Given the description of an element on the screen output the (x, y) to click on. 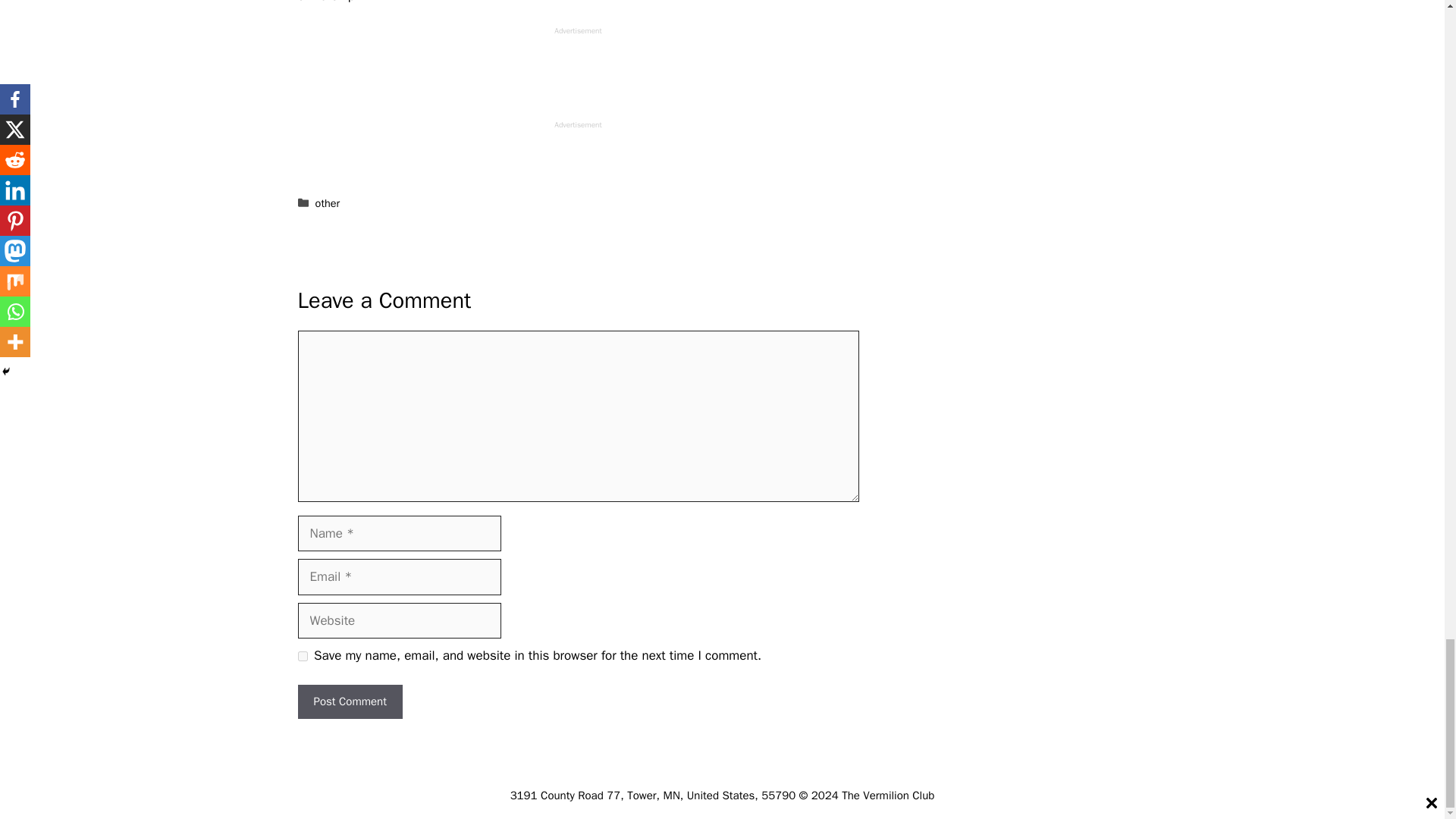
Post Comment (349, 701)
yes (302, 655)
other (327, 202)
Post Comment (349, 701)
